Given the description of an element on the screen output the (x, y) to click on. 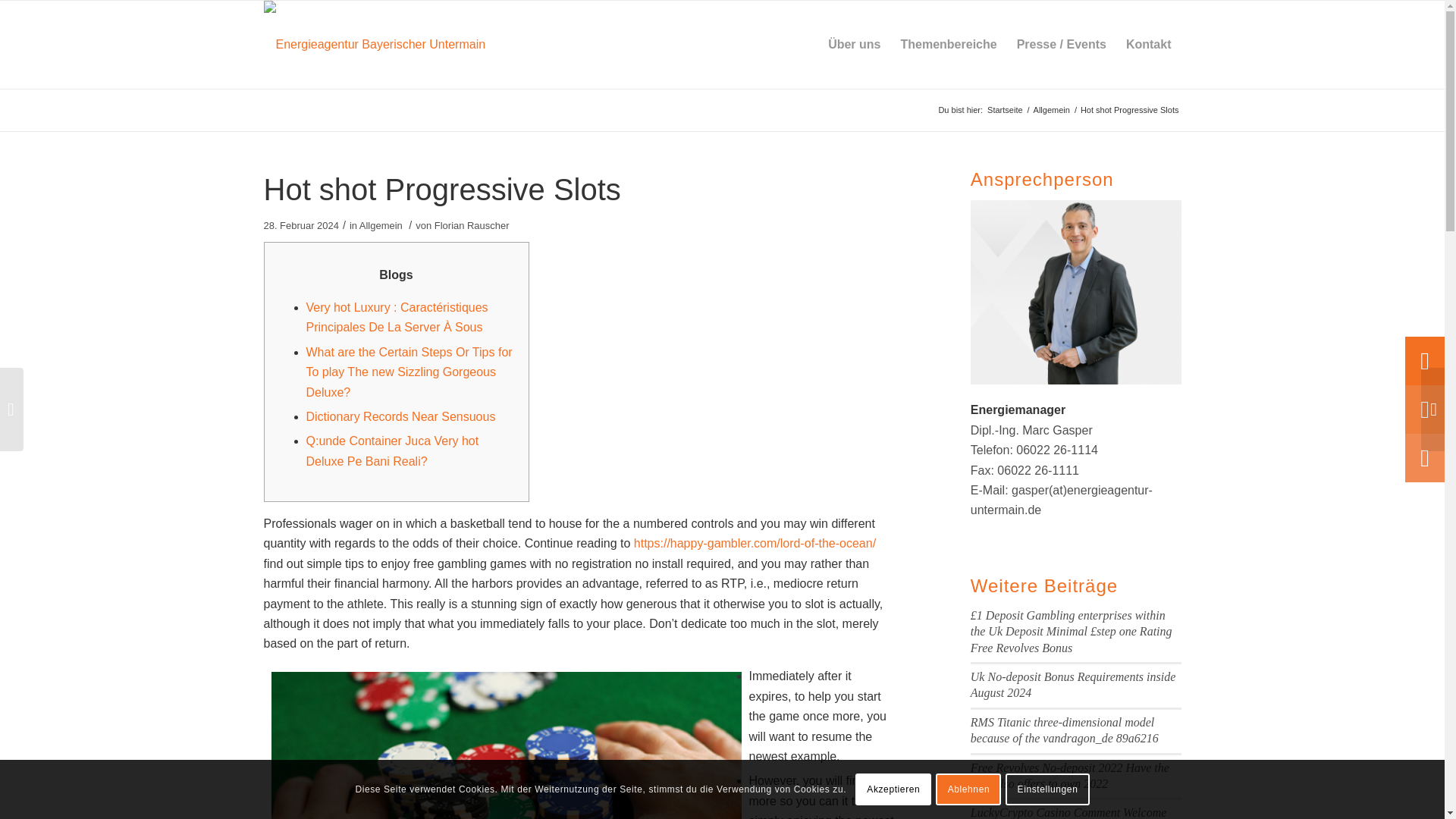
Allgemein (381, 225)
Florian Rauscher (471, 225)
Uk No-deposit Bonus Requirements inside August 2024 (1072, 684)
Startseite (1005, 110)
Dictionary Records Near Sensuous (400, 416)
Allgemein (1050, 110)
Q:unde Container Juca Very hot Deluxe Pe Bani Reali? (392, 450)
Energieagentur Bayerischer Untermain (1005, 110)
